Given the description of an element on the screen output the (x, y) to click on. 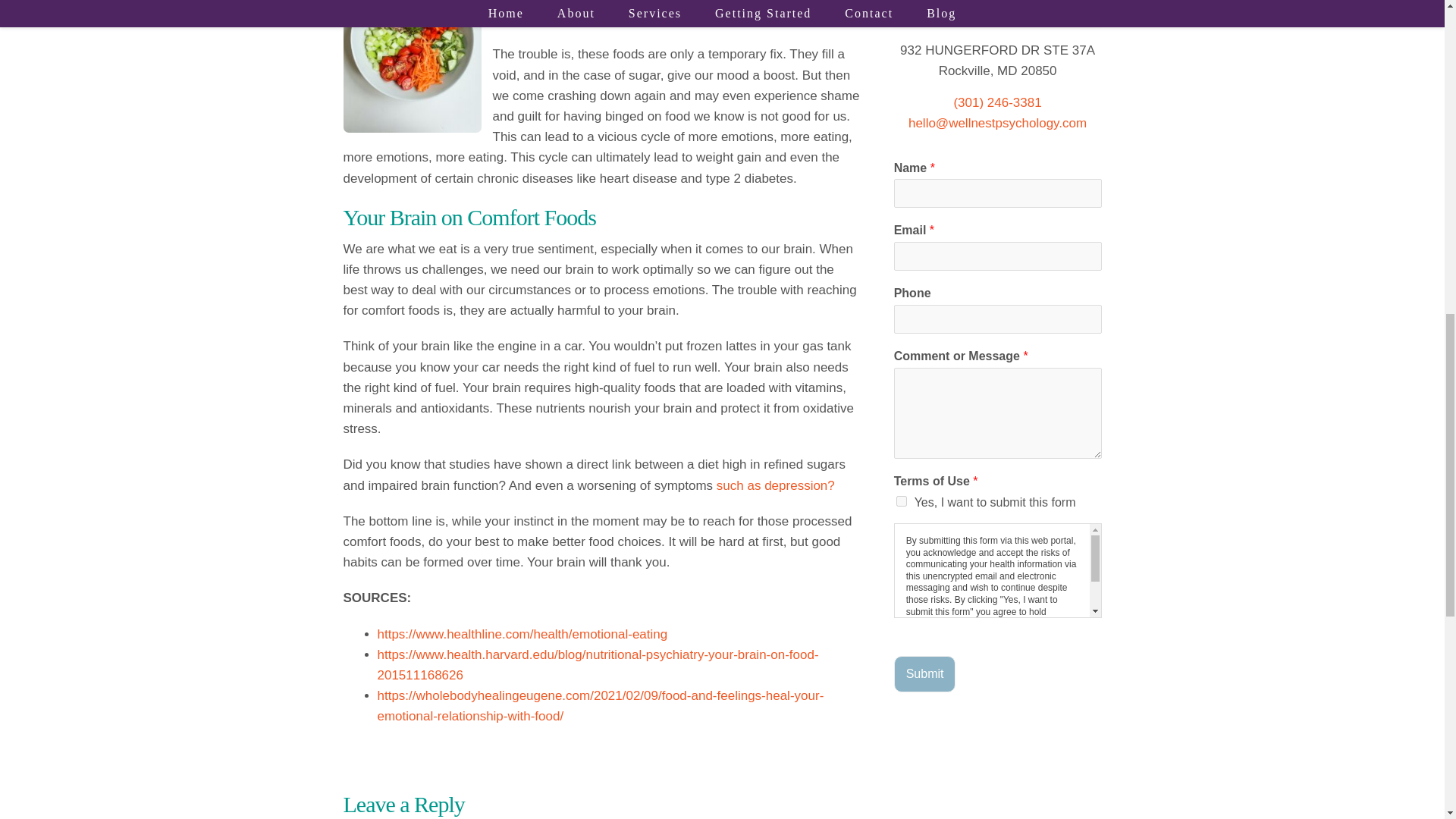
such as depression? (775, 485)
Submit (924, 674)
Yes, I want to submit this form (901, 501)
